Given the description of an element on the screen output the (x, y) to click on. 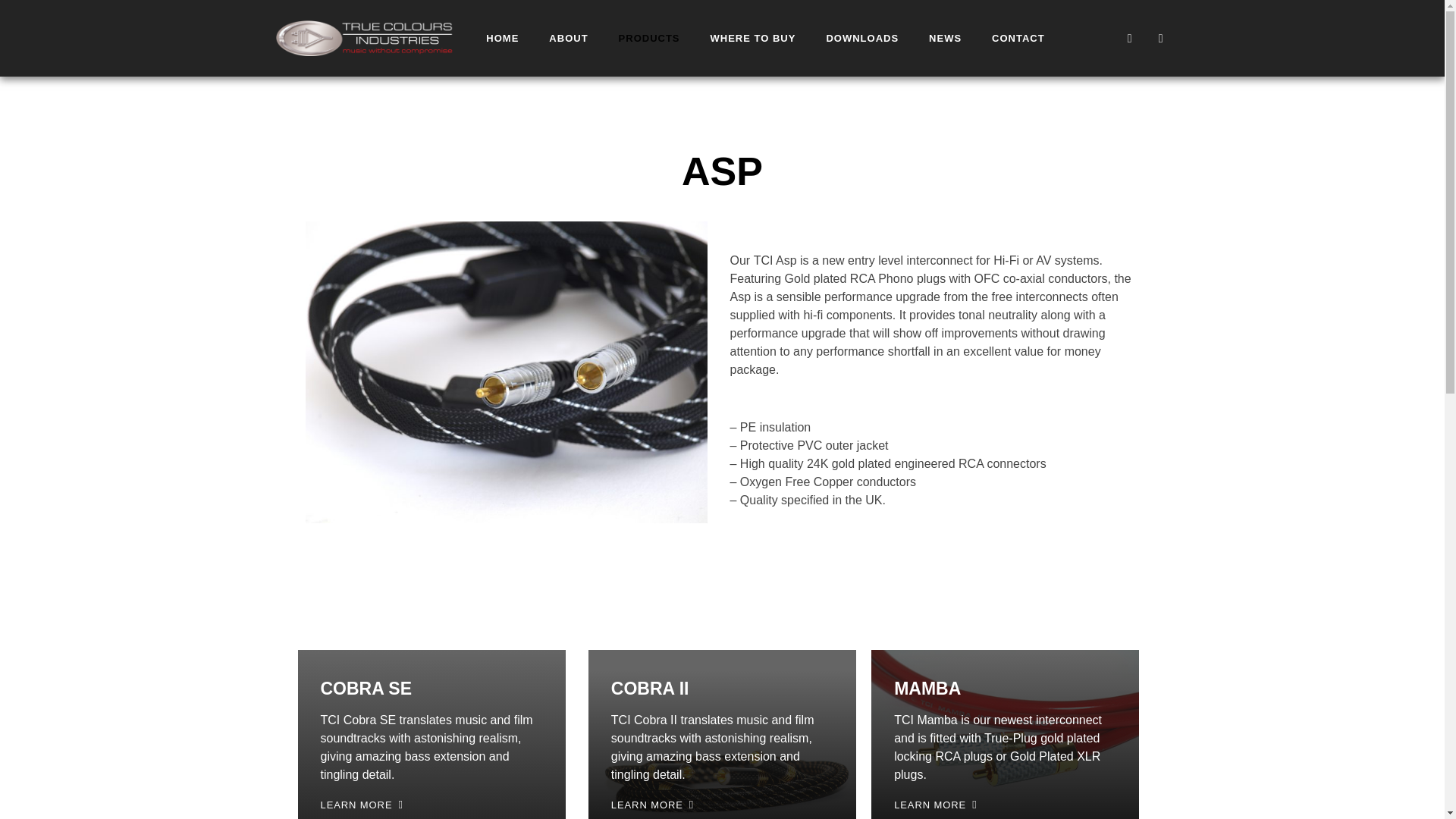
PRODUCTS (649, 38)
ABOUT (568, 38)
HOME (502, 38)
